Given the description of an element on the screen output the (x, y) to click on. 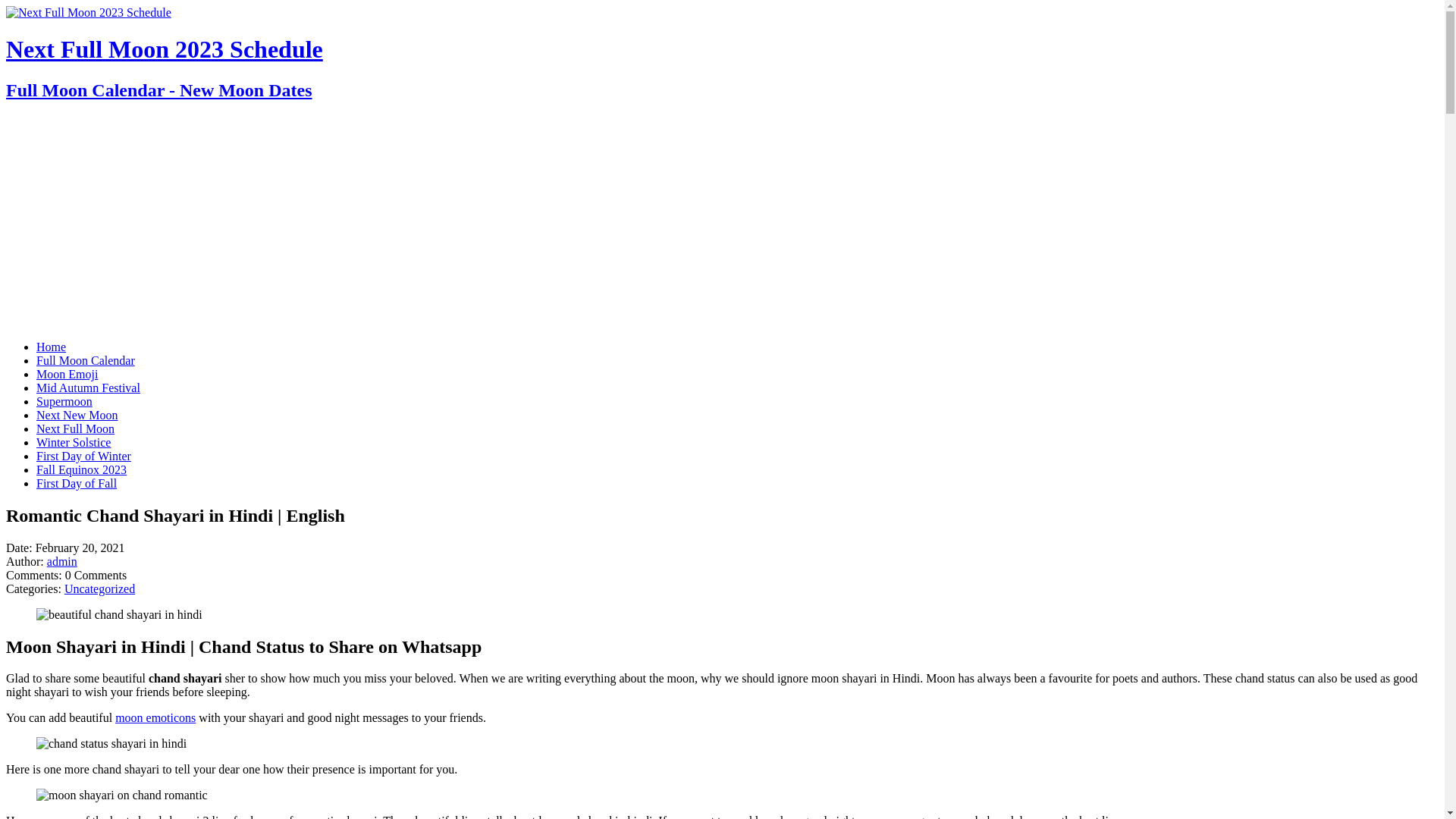
Next New Moon Element type: text (77, 414)
Fall Equinox 2023 Element type: text (81, 469)
Home Element type: text (50, 346)
moon emoticons Element type: text (155, 717)
Supermoon Element type: text (64, 401)
Moon Emoji Element type: text (66, 373)
admin Element type: text (62, 561)
First Day of Winter Element type: text (83, 455)
Mid Autumn Festival Element type: text (88, 387)
Uncategorized Element type: text (99, 588)
Full Moon Calendar Element type: text (85, 360)
First Day of Fall Element type: text (76, 482)
Next Full Moon Element type: text (75, 428)
Winter Solstice Element type: text (73, 442)
